Given the description of an element on the screen output the (x, y) to click on. 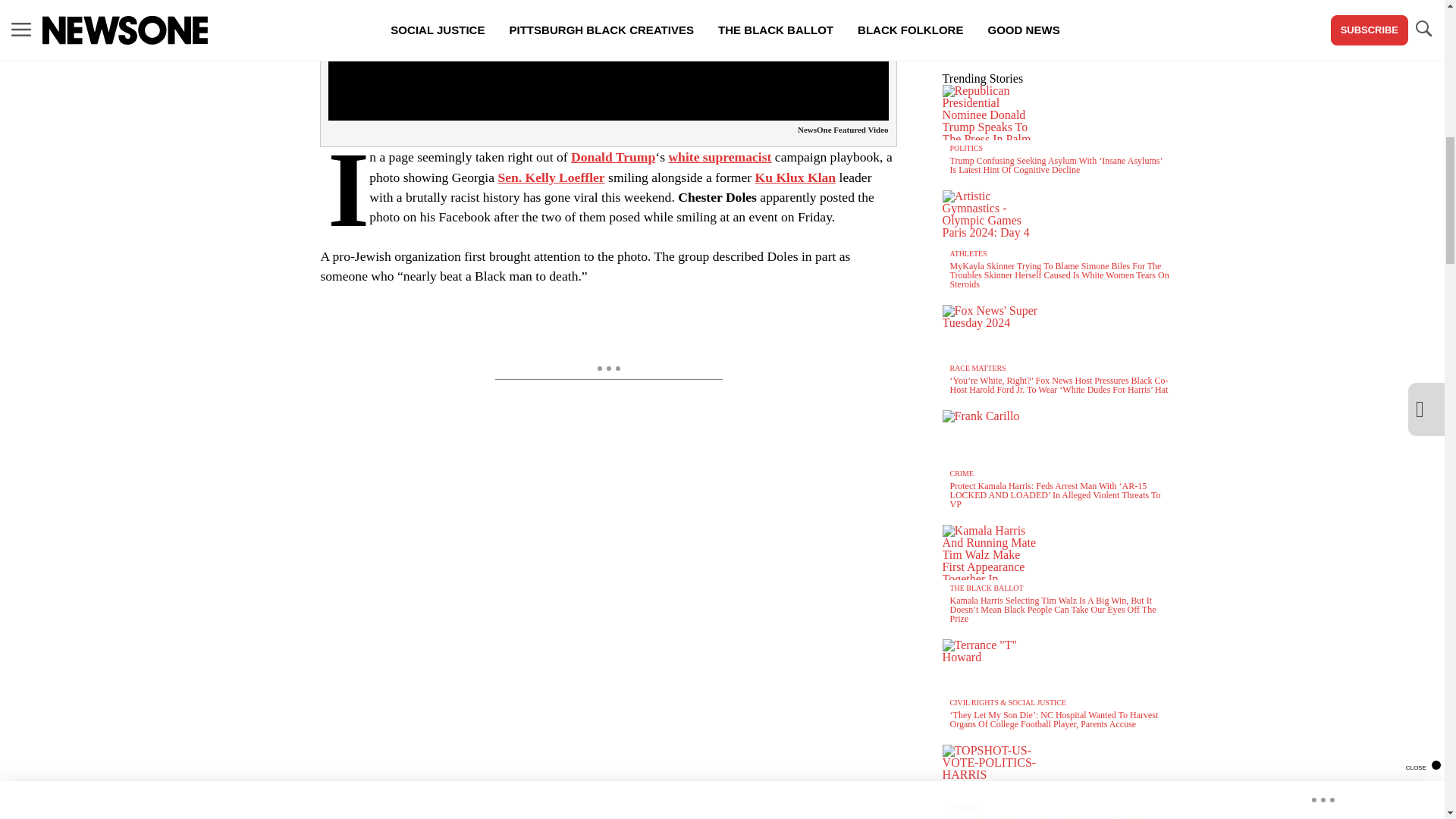
Sen. Kelly Loeffler (550, 177)
white supremacist (719, 156)
Ku Klux Klan (795, 177)
Donald Trump (612, 156)
